Given the description of an element on the screen output the (x, y) to click on. 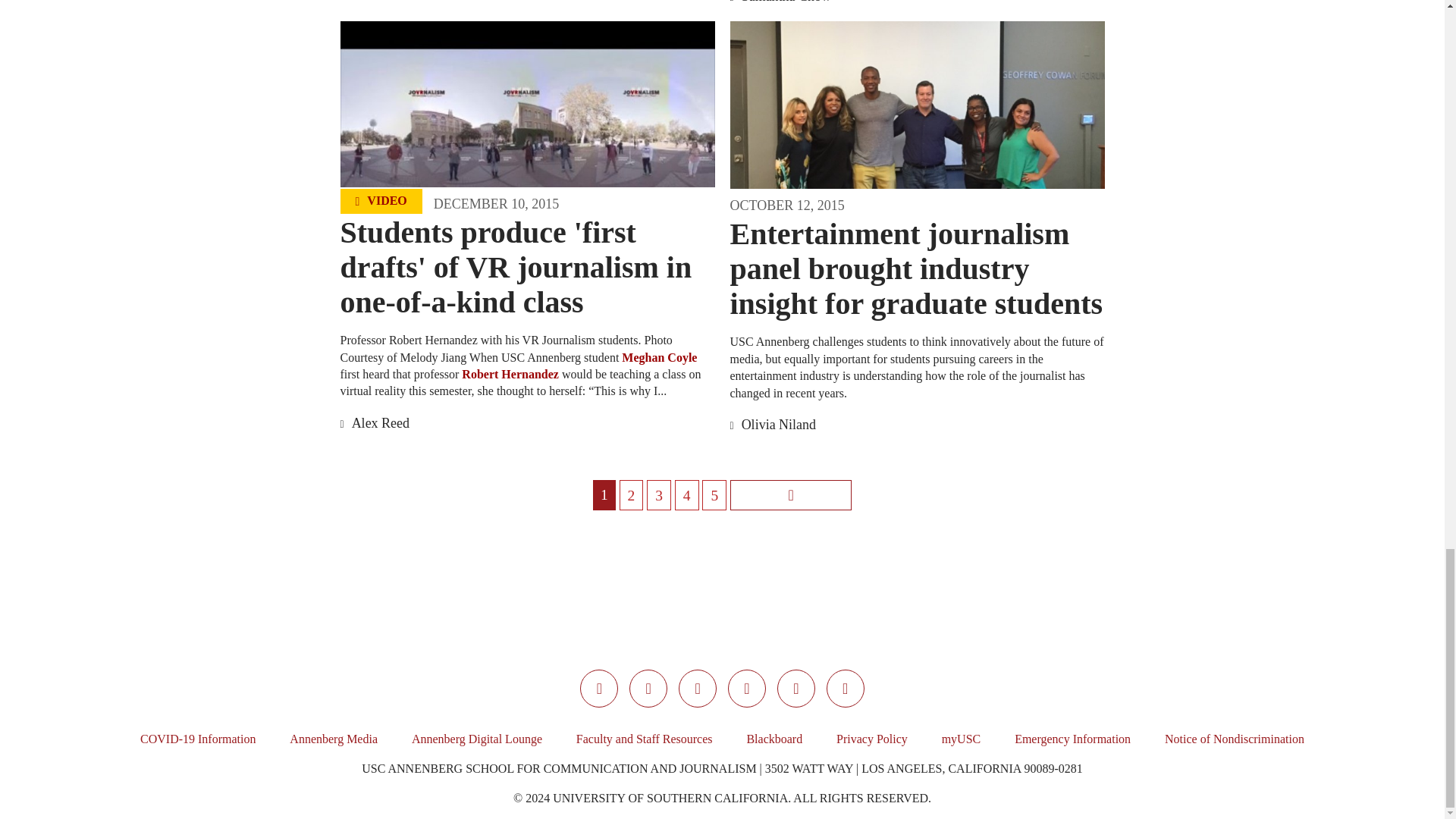
Go to next page (790, 494)
